Given the description of an element on the screen output the (x, y) to click on. 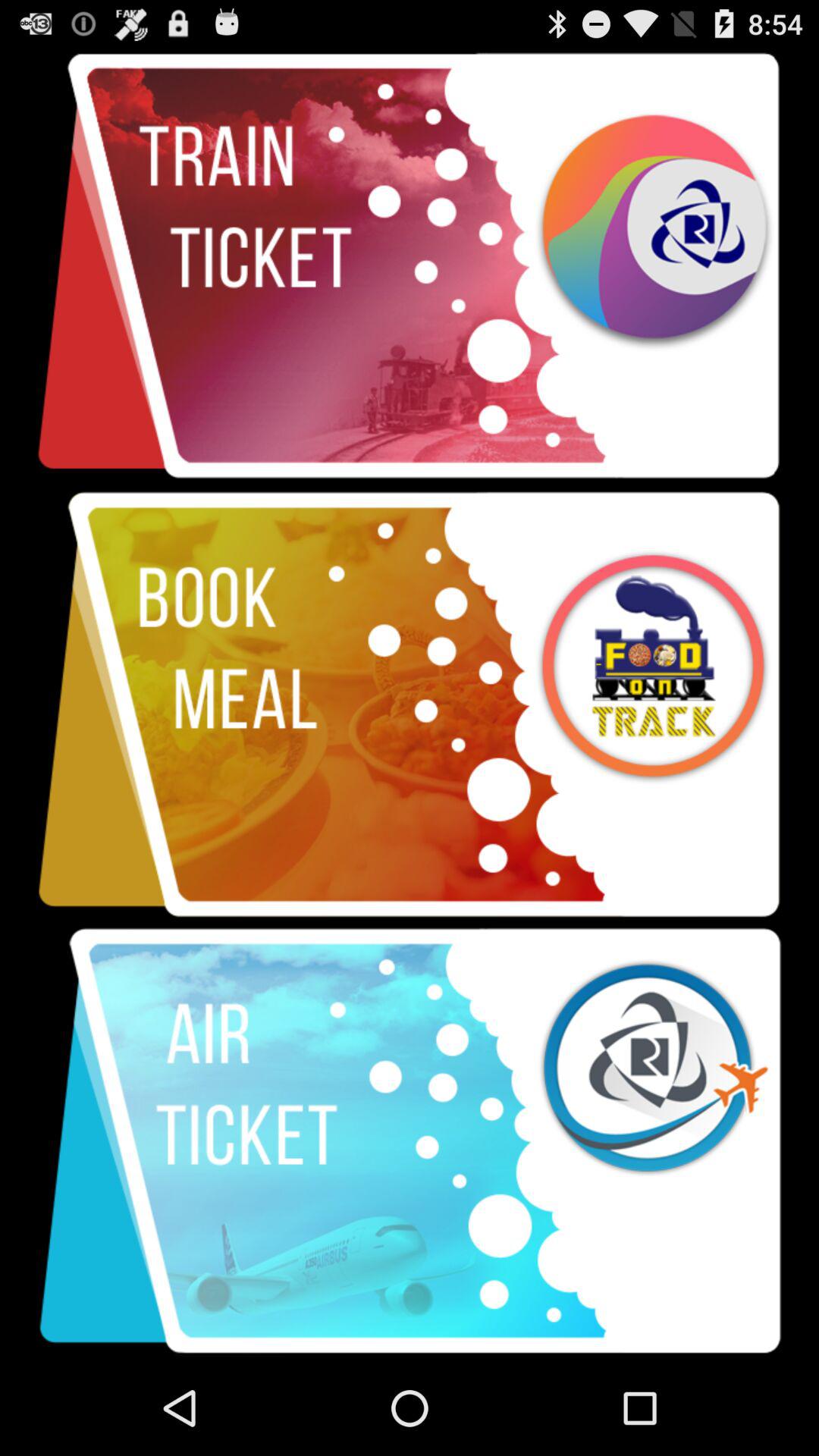
book train ticket (409, 266)
